Given the description of an element on the screen output the (x, y) to click on. 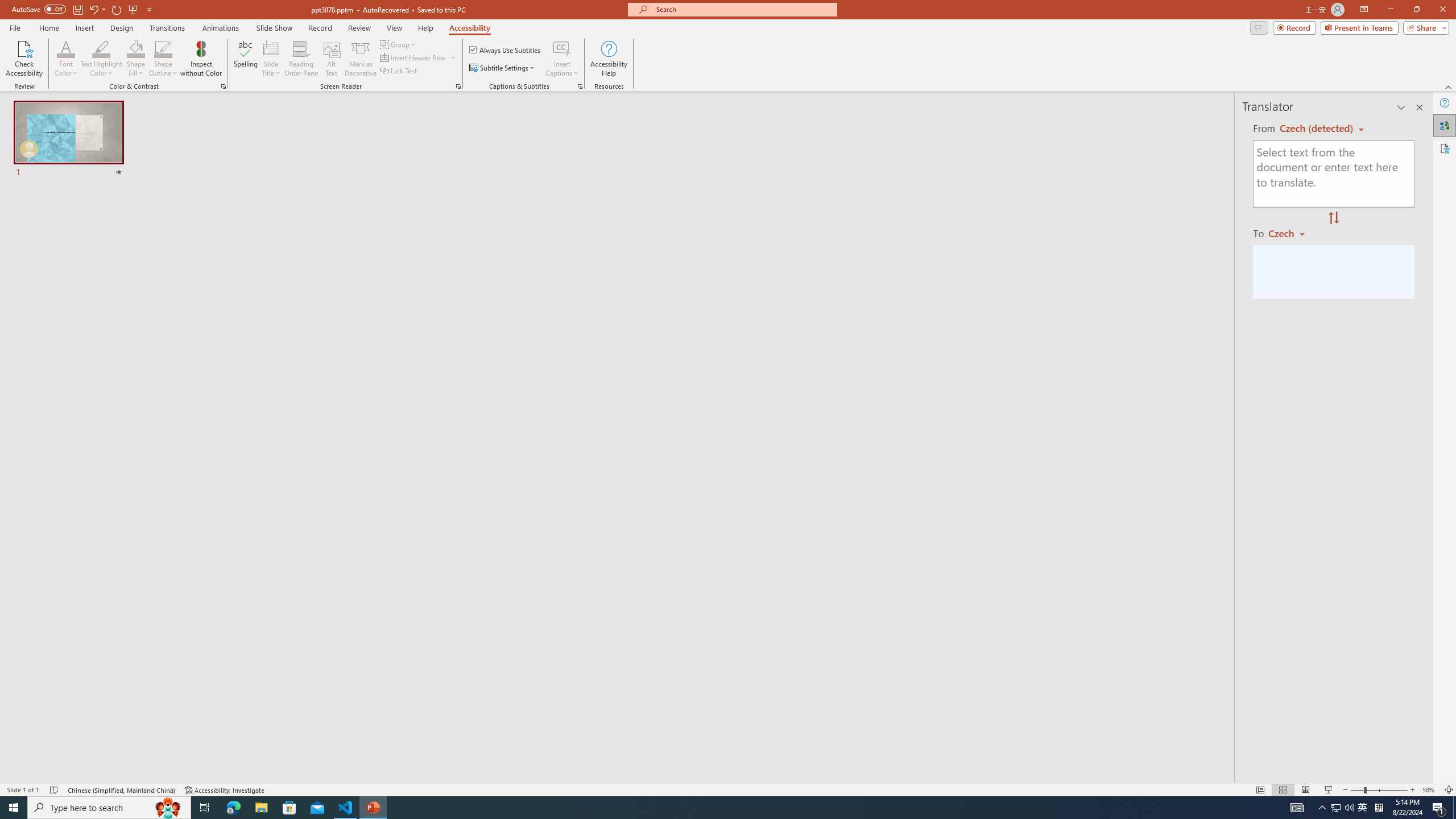
Reading Order Pane (301, 58)
Zoom 58% (1430, 790)
Inspect without Color (201, 58)
Swap "from" and "to" languages. (1333, 218)
